Given the description of an element on the screen output the (x, y) to click on. 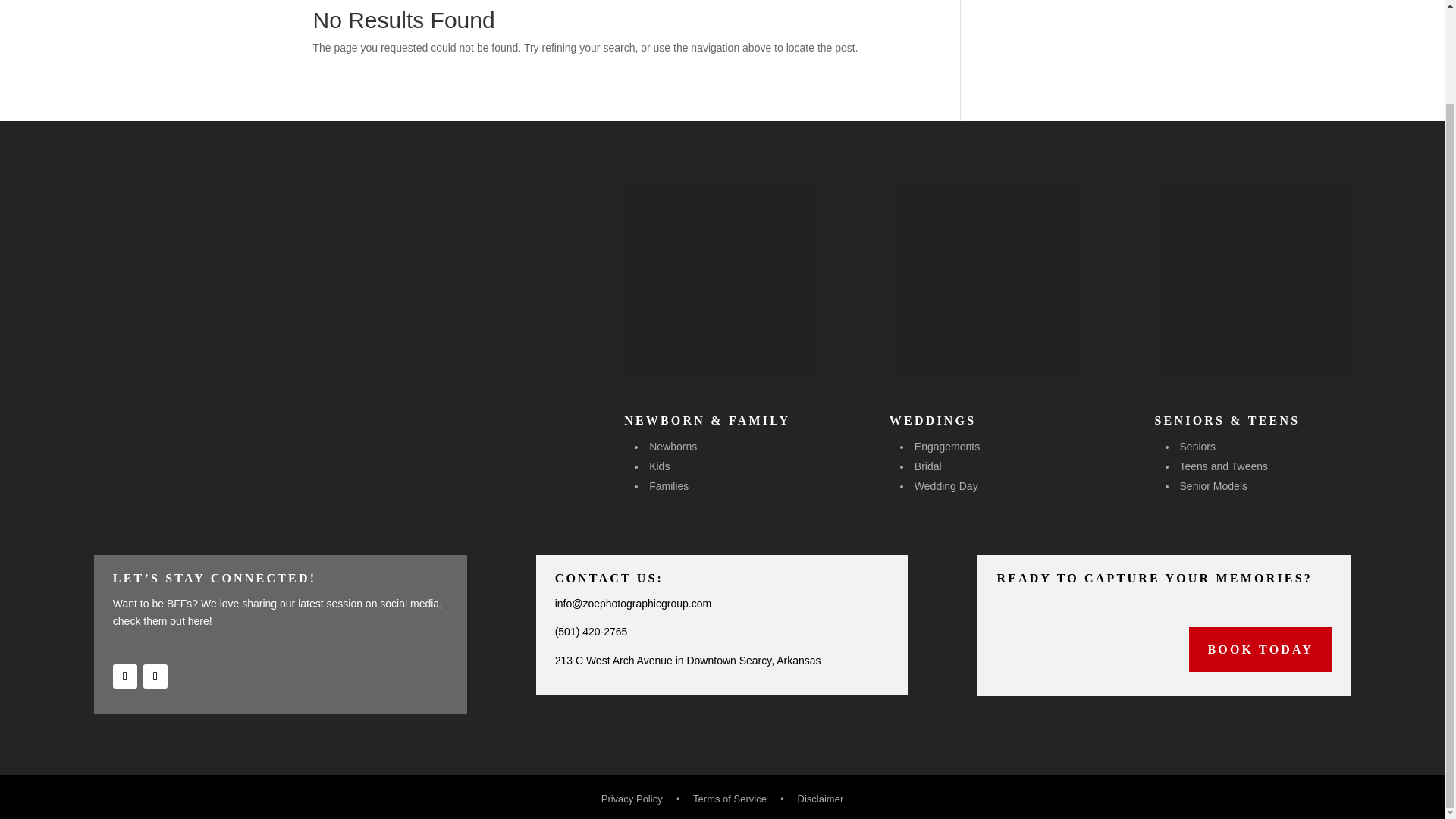
Follow on Facebook (124, 676)
Privacy Policy  (633, 798)
BOOK TODAY (1260, 649)
Terms of Service (730, 798)
Follow on Instagram (154, 676)
Disclaimer (820, 798)
